Given the description of an element on the screen output the (x, y) to click on. 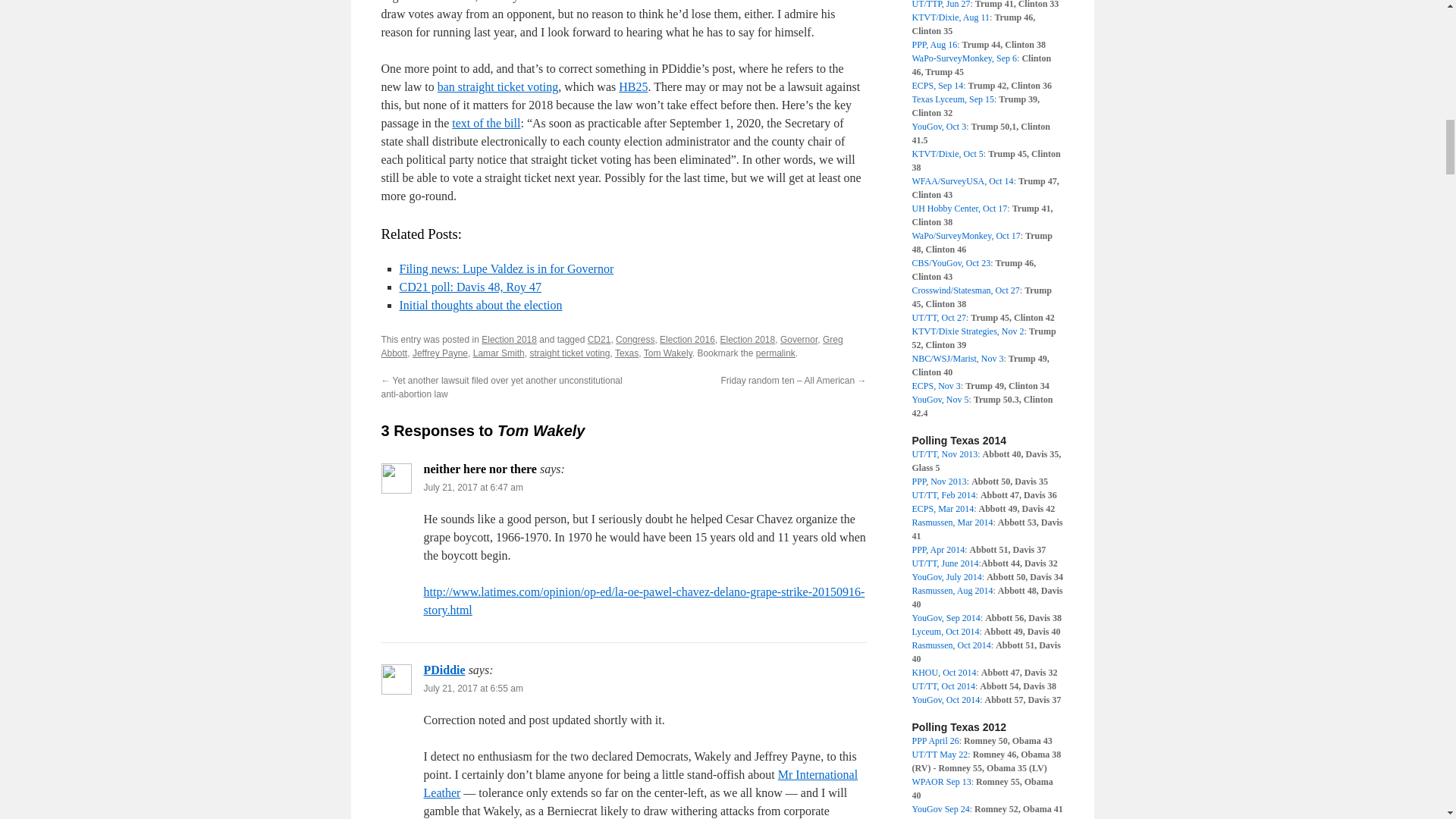
HB25 (632, 86)
Tom Wakely (668, 353)
Filing news: Lupe Valdez is in for Governor (505, 268)
text of the bill (485, 123)
Election 2018 (509, 339)
Texas (626, 353)
Congress (634, 339)
Permalink to Tom Wakely (774, 353)
permalink (774, 353)
Jeffrey Payne (439, 353)
